Given the description of an element on the screen output the (x, y) to click on. 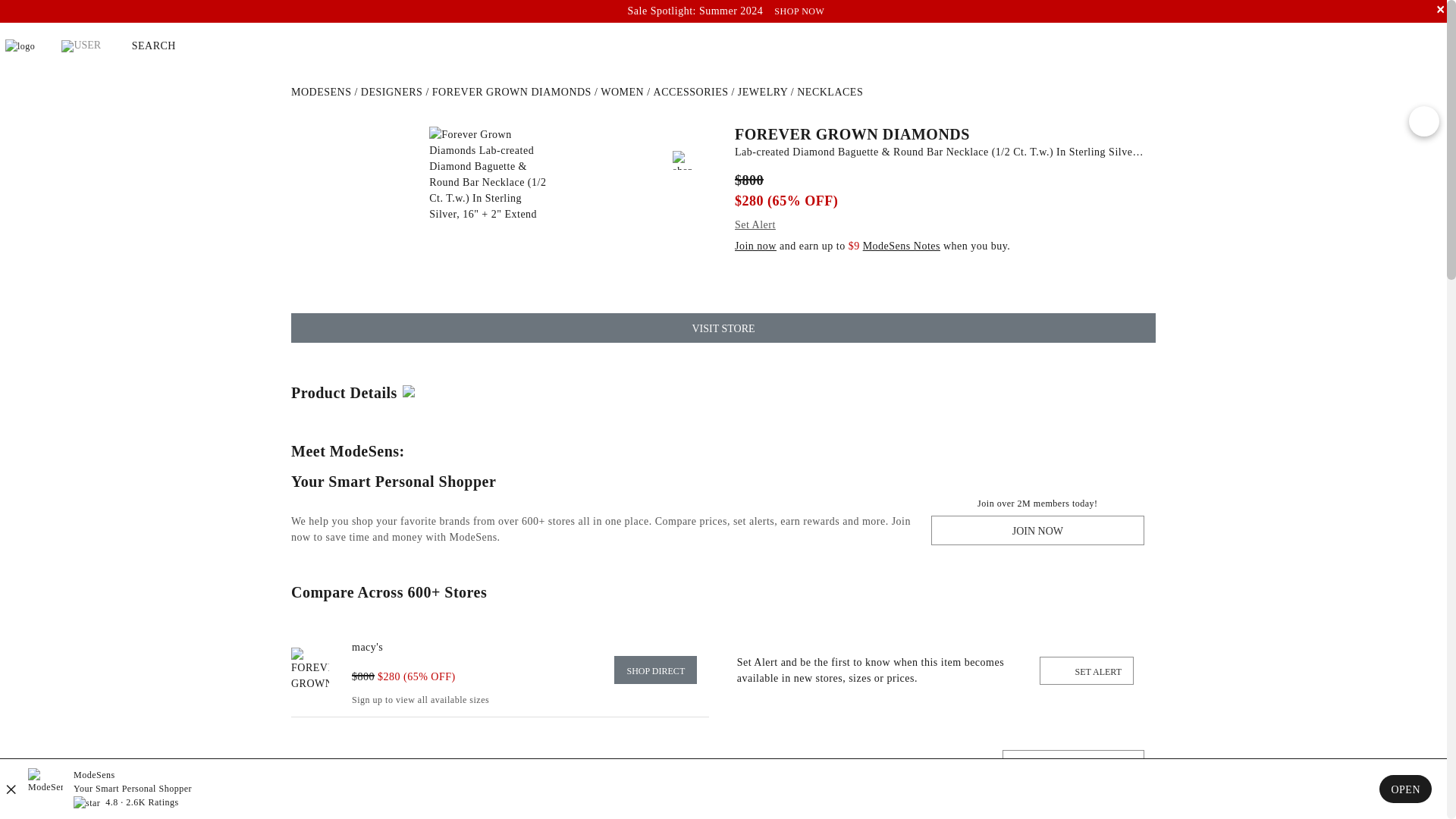
Forever Grown Diamonds Accessories for Women (691, 91)
Designers (392, 91)
Add to shopping lists (681, 135)
Share with Friends (681, 159)
ModeSens (320, 91)
Forever Grown Diamonds (511, 91)
OPEN (1404, 788)
Buy from store's website (655, 669)
FOREVER GROWN DIAMONDS (939, 133)
Forever Grown Diamonds Jewelry for Women (762, 91)
Learn more about ModeSens membership (901, 245)
Forever Grown Diamonds Necklaces for Women (829, 91)
Buy from store's website (367, 646)
Forever Grown Diamonds Women (621, 91)
